Given the description of an element on the screen output the (x, y) to click on. 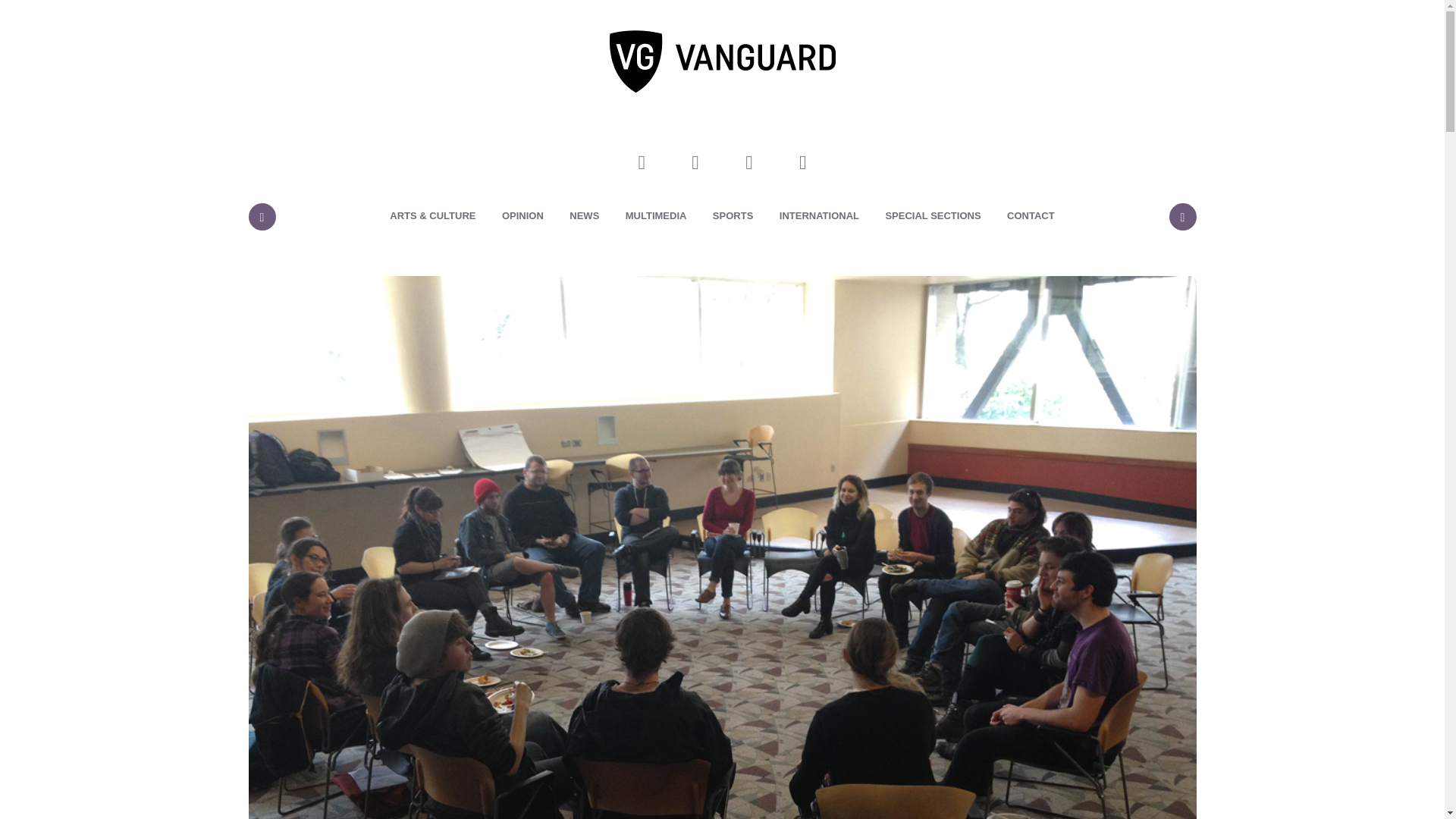
OPINION (522, 215)
CONTACT (1030, 215)
MULTIMEDIA (656, 215)
INTERNATIONAL (819, 215)
SPECIAL SECTIONS (932, 215)
SPORTS (732, 215)
NEWS (583, 215)
